Given the description of an element on the screen output the (x, y) to click on. 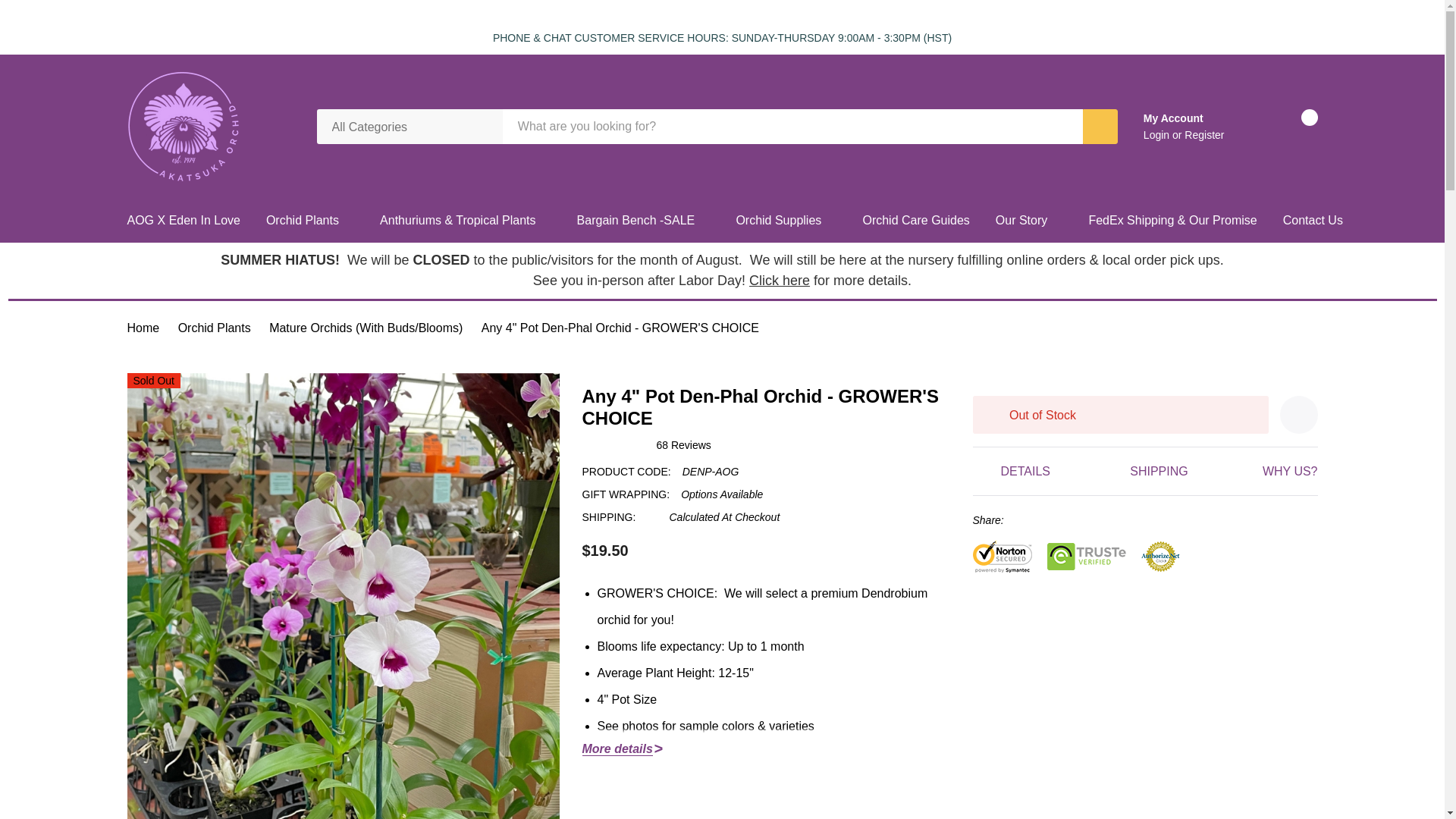
AOG X Eden In Love (190, 220)
Register (1204, 134)
Open Twitter in a new popup (1039, 519)
Orchid Plants (302, 219)
Akatsuka Orchid Gardens (184, 126)
Open Pinterest in a new popup (1061, 519)
Open Facebook in a new popup (1017, 519)
Login (1157, 134)
